Given the description of an element on the screen output the (x, y) to click on. 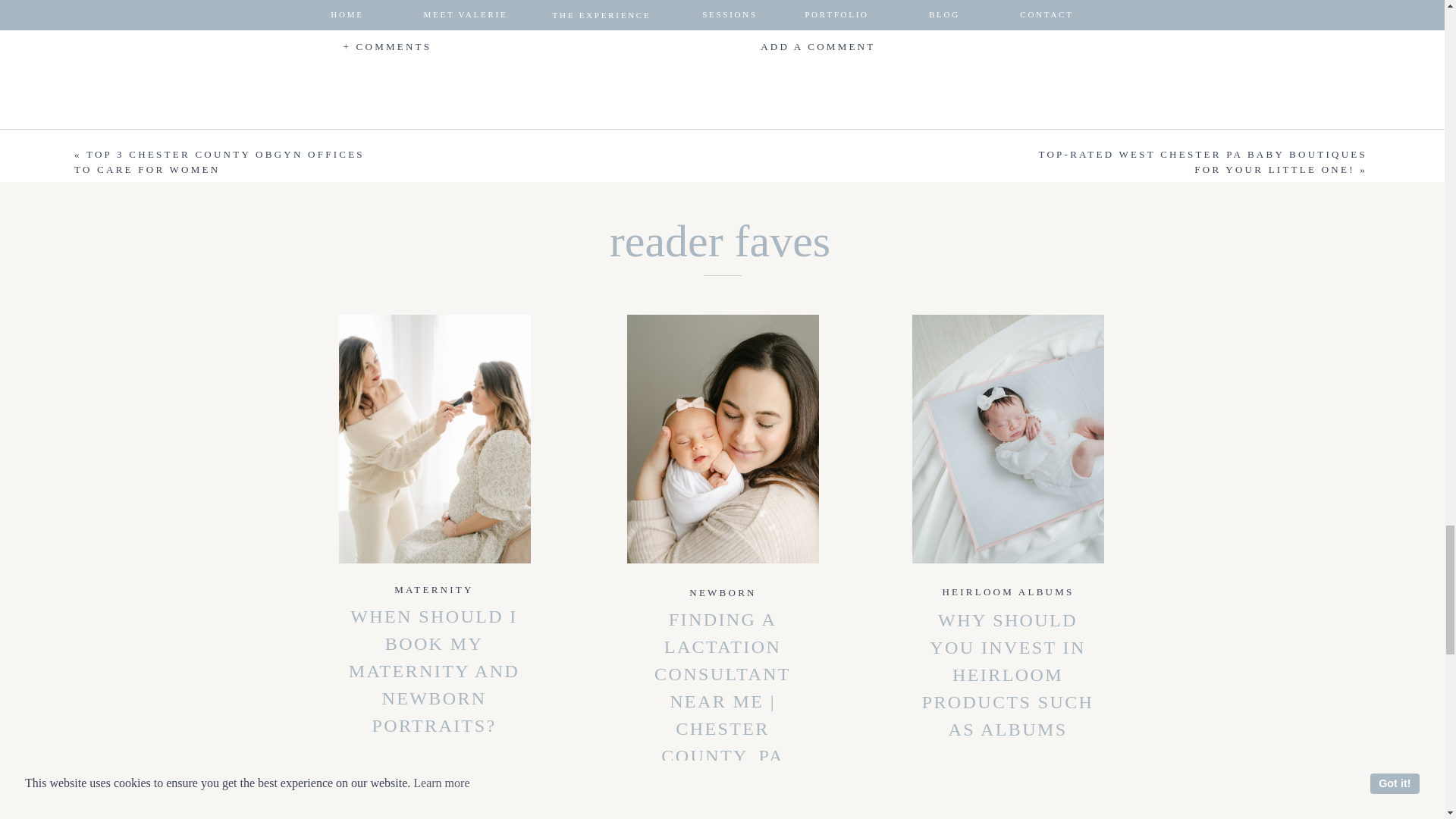
ADD A COMMENT (776, 47)
NEWBORN (721, 592)
HEIRLOOM ALBUMS (1008, 591)
MATERNITY (433, 589)
TOP 3 CHESTER COUNTY OBGYN OFFICES TO CARE FOR WOMEN (219, 161)
WHEN SHOULD I BOOK MY MATERNITY AND NEWBORN PORTRAITS? (434, 670)
